Given the description of an element on the screen output the (x, y) to click on. 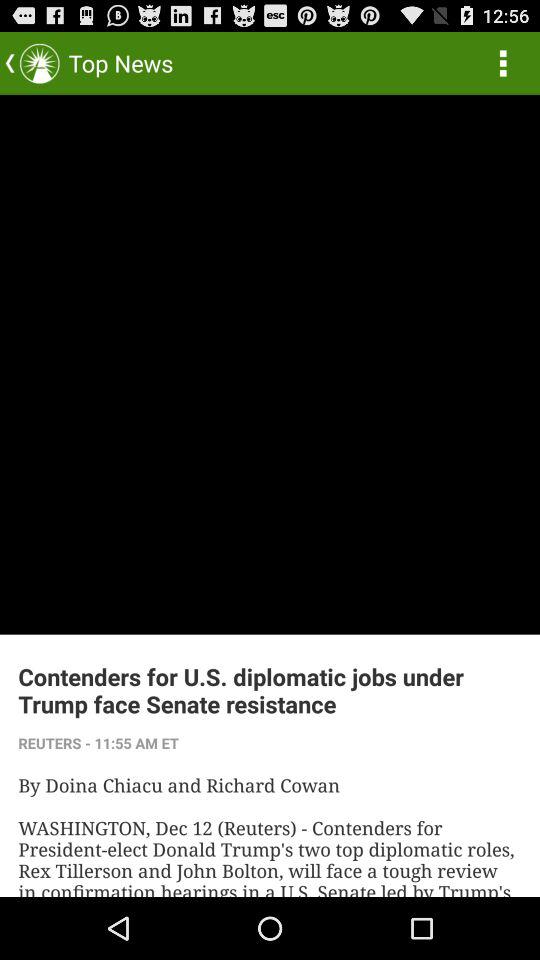
turn off the item next to top news app (503, 62)
